Given the description of an element on the screen output the (x, y) to click on. 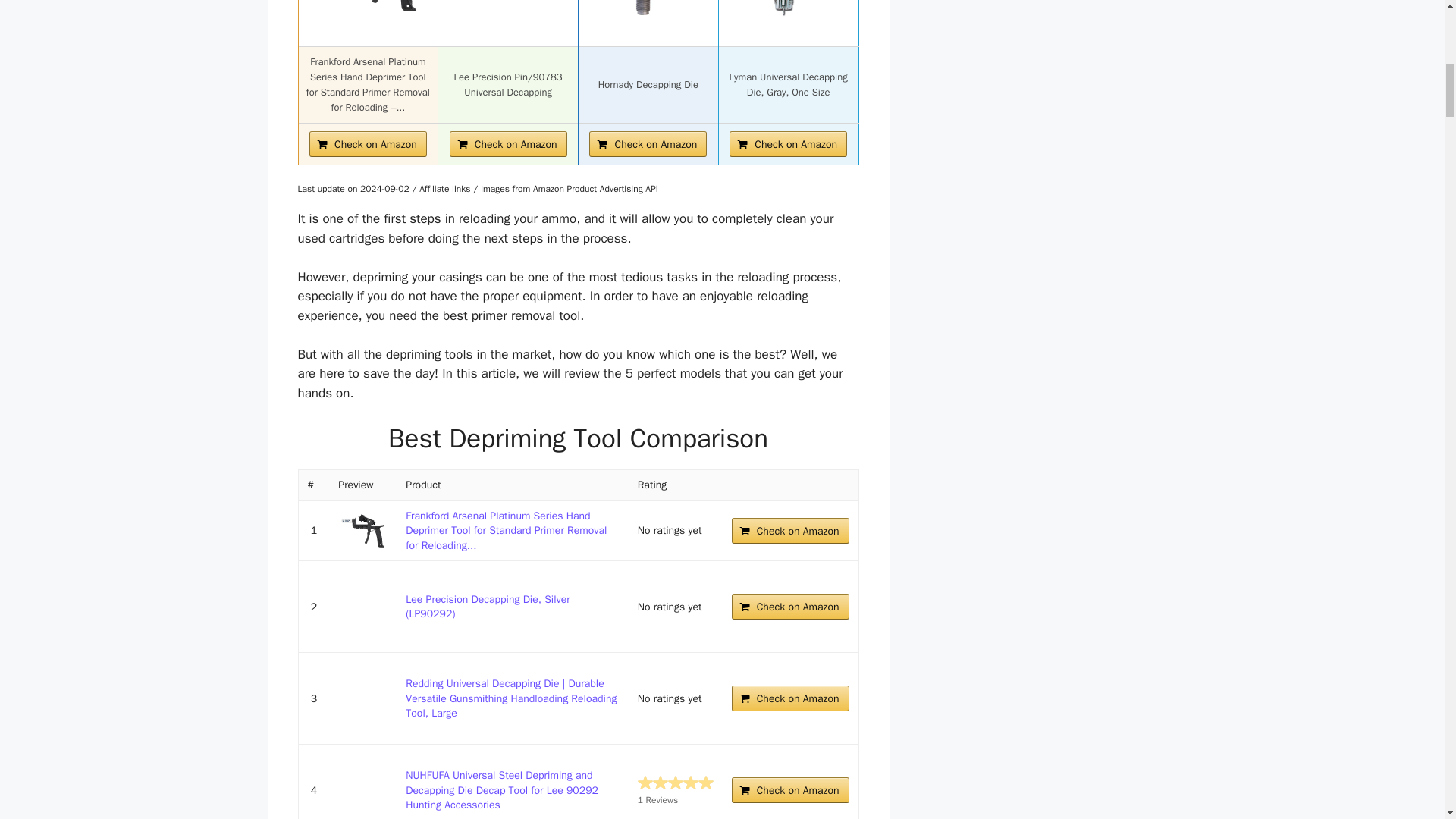
Check on Amazon (790, 530)
Check on Amazon (790, 698)
Check on Amazon (367, 144)
Check on Amazon (790, 606)
Check on Amazon (508, 144)
Check on Amazon (790, 790)
Check on Amazon (647, 144)
Check on Amazon (788, 144)
Check on Amazon (367, 144)
